Given the description of an element on the screen output the (x, y) to click on. 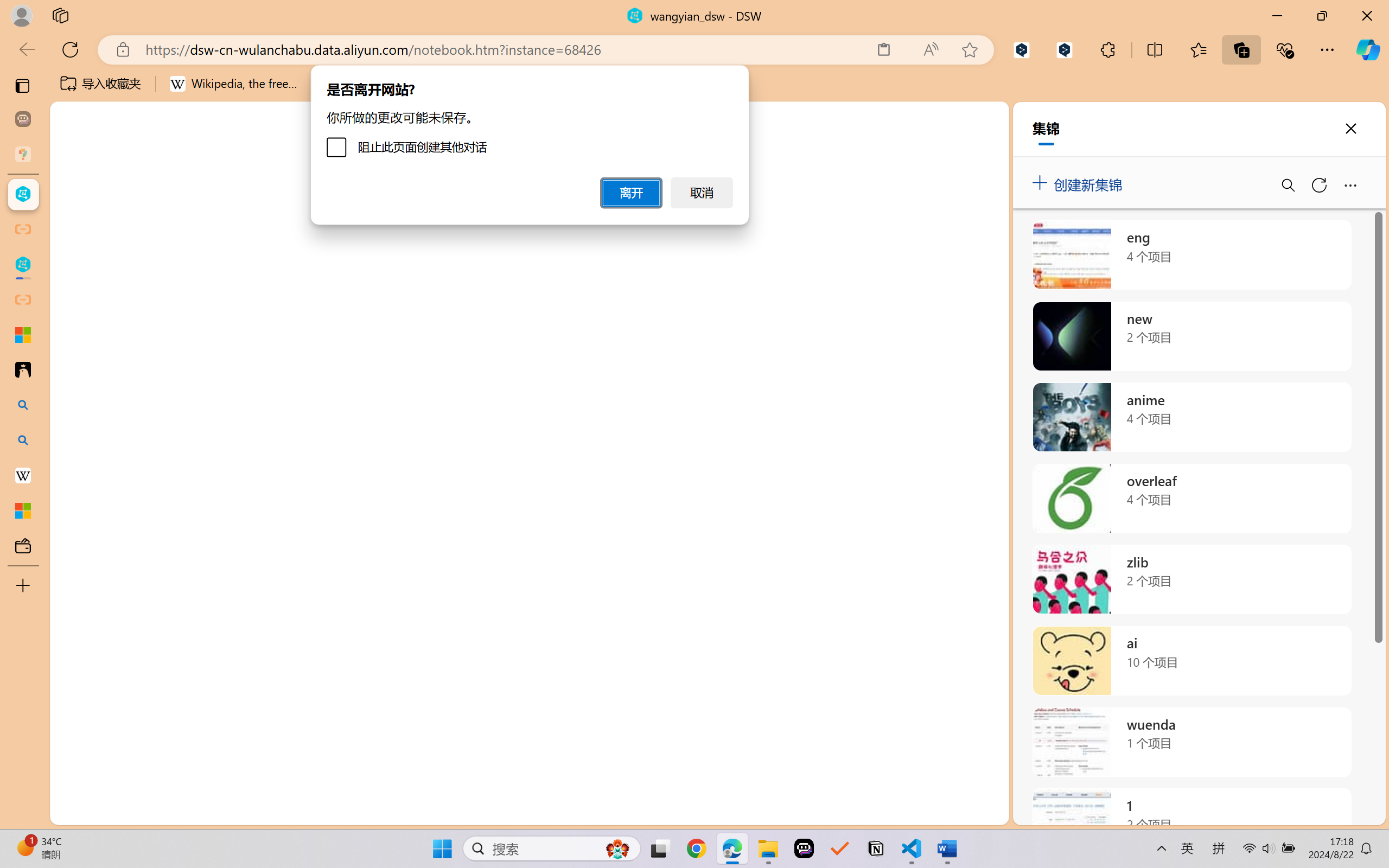
Source Control (Ctrl+Shift+G) (73, 328)
Class: xterm-link-layer (761, 697)
icon (1308, 121)
Explorer actions (211, 194)
Terminal 2 bash (1326, 614)
Problems (Ctrl+Shift+M) (308, 565)
